Given the description of an element on the screen output the (x, y) to click on. 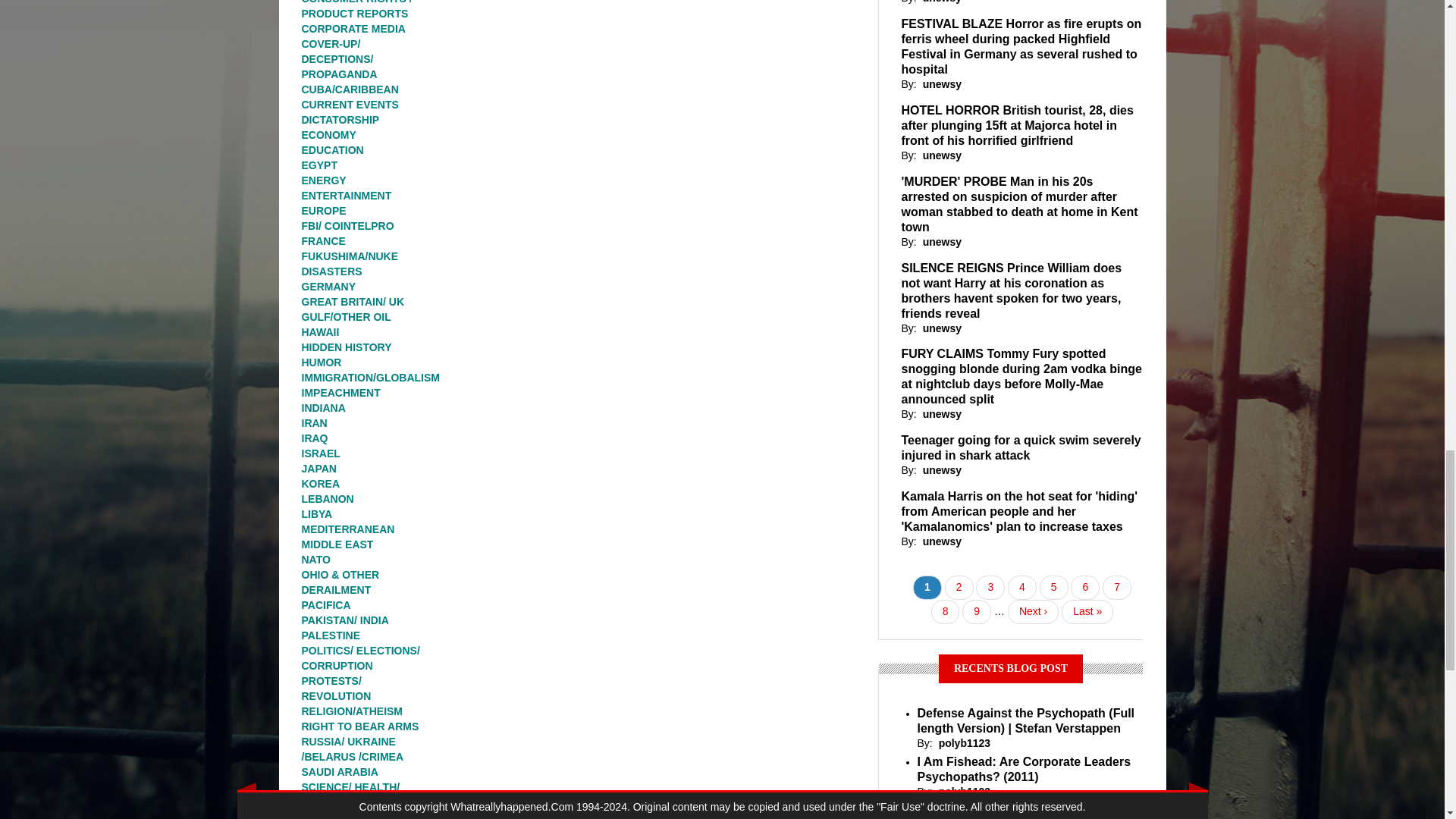
Go to last page (1087, 611)
Go to page 2 (959, 587)
Go to page 8 (945, 611)
Go to page 9 (976, 611)
Go to page 7 (1116, 587)
Go to page 4 (1021, 587)
Current page (927, 587)
Go to page 6 (1084, 587)
Go to page 5 (1053, 587)
Go to page 3 (989, 587)
